Given the description of an element on the screen output the (x, y) to click on. 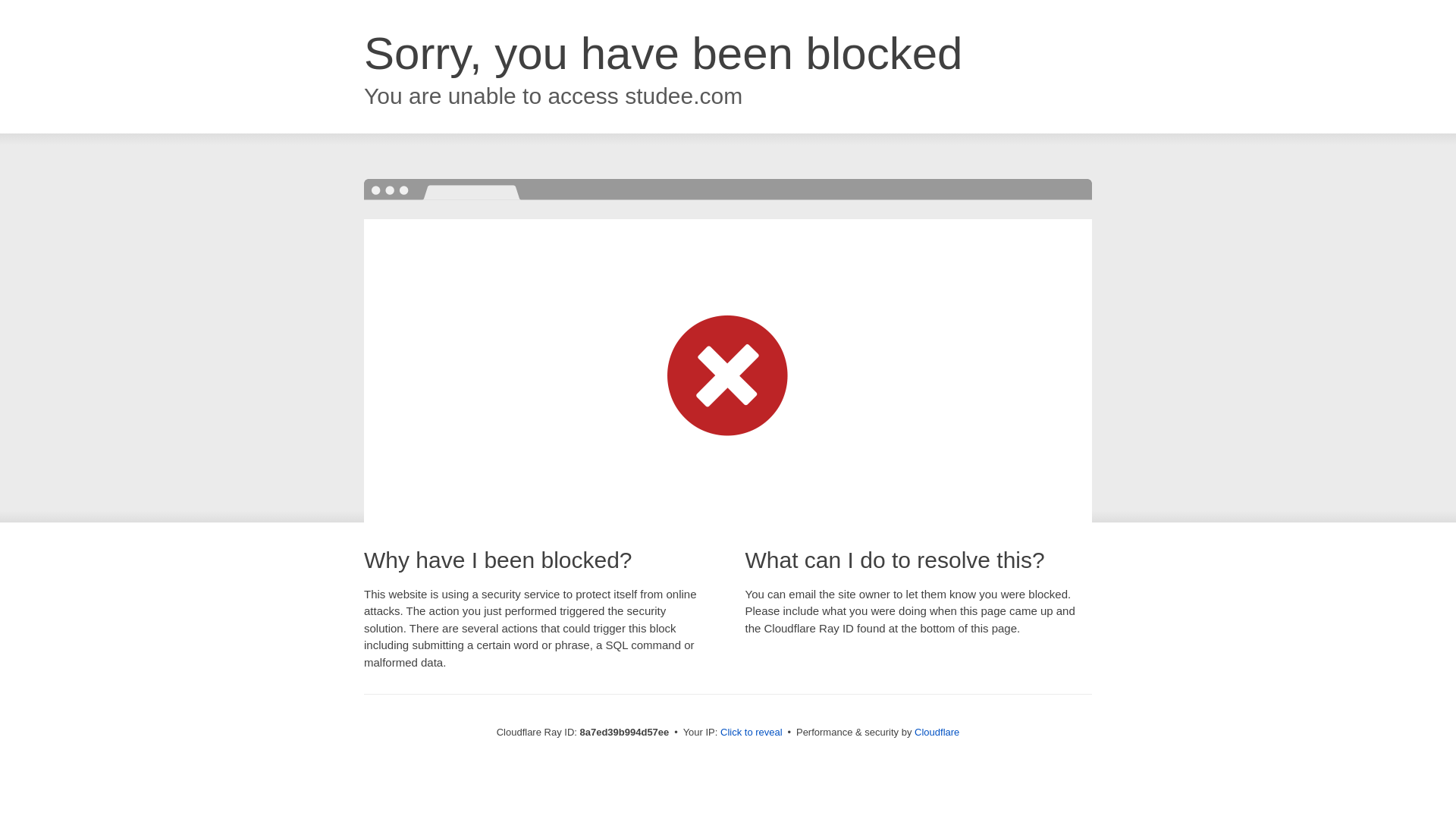
Click to reveal (751, 732)
Cloudflare (936, 731)
